Given the description of an element on the screen output the (x, y) to click on. 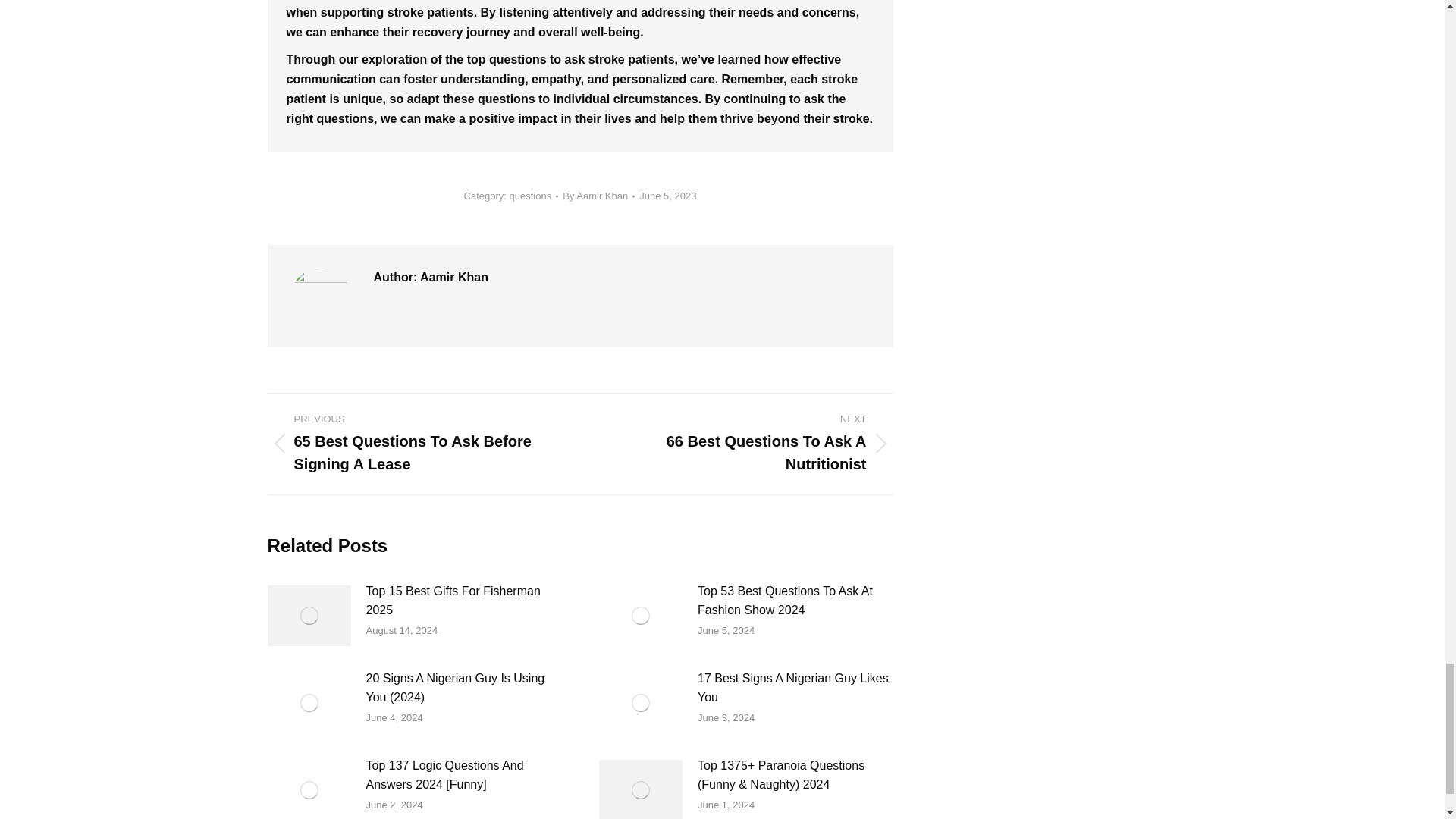
questions (530, 194)
6:47 am (667, 196)
By Aamir Khan (598, 196)
Top 15 Best Gifts For Fisherman 2025 (747, 443)
View all posts by Aamir Khan (462, 600)
June 5, 2023 (598, 196)
Top 53 Best Questions To Ask At Fashion Show 2024 (667, 196)
